Given the description of an element on the screen output the (x, y) to click on. 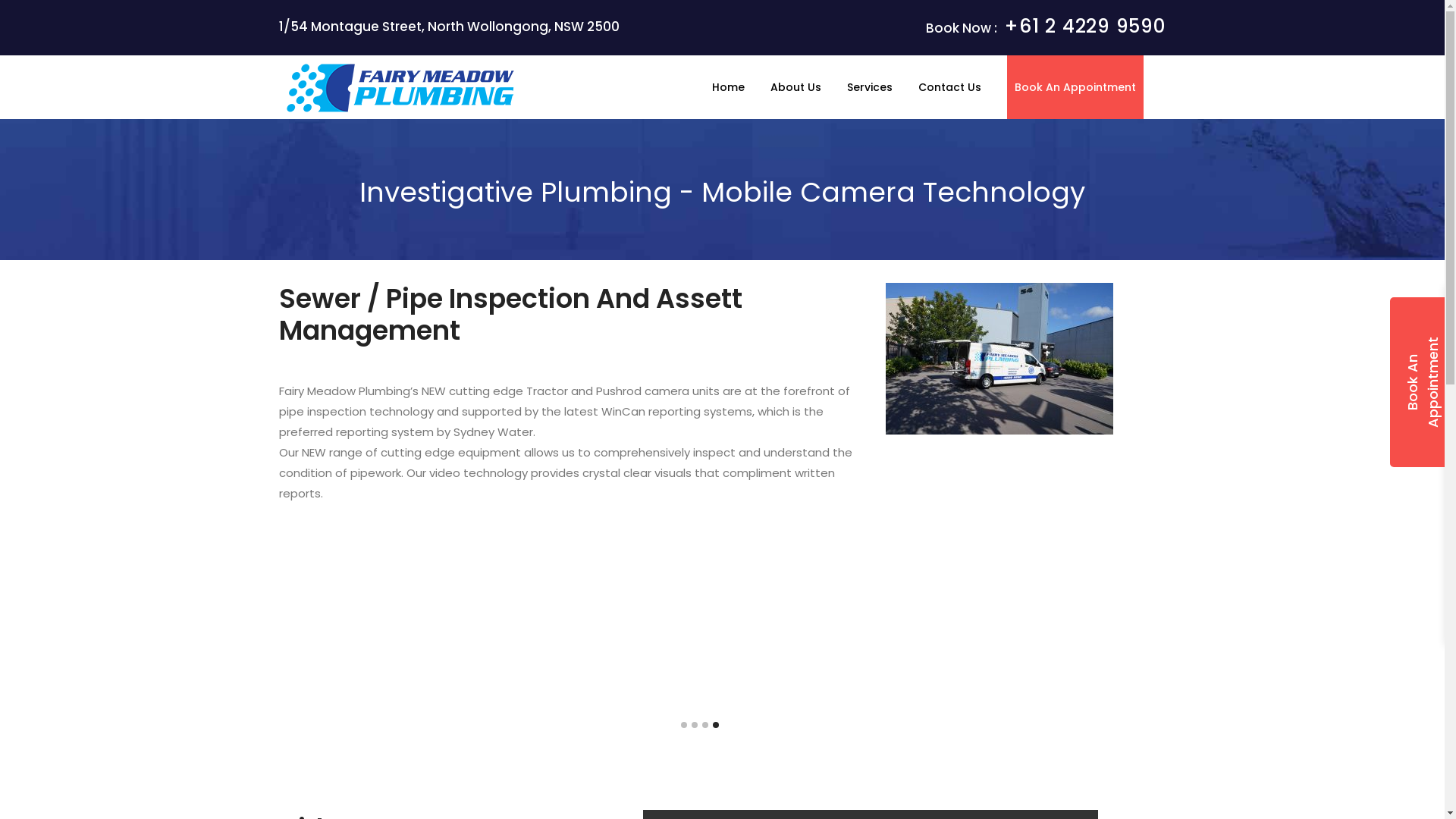
Services Element type: text (868, 87)
Contact Us Element type: text (948, 87)
Book An Appointment Element type: text (1075, 87)
Fixnox Element type: hover (400, 89)
Home Element type: text (727, 87)
+61 2 4229 9590 Element type: text (1084, 25)
About Us Element type: text (795, 87)
